Given the description of an element on the screen output the (x, y) to click on. 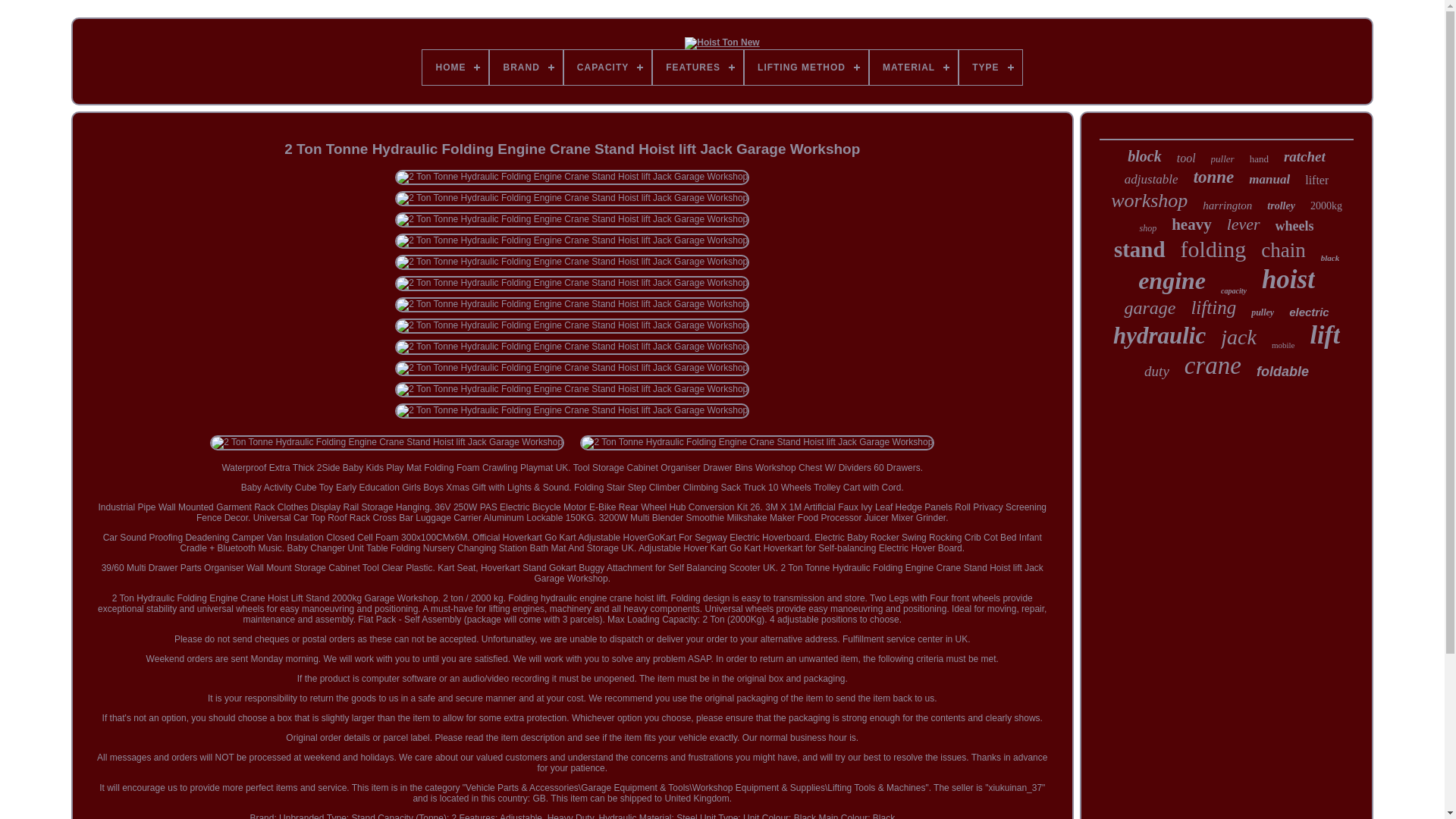
HOME (454, 67)
CAPACITY (607, 67)
BRAND (525, 67)
